Given the description of an element on the screen output the (x, y) to click on. 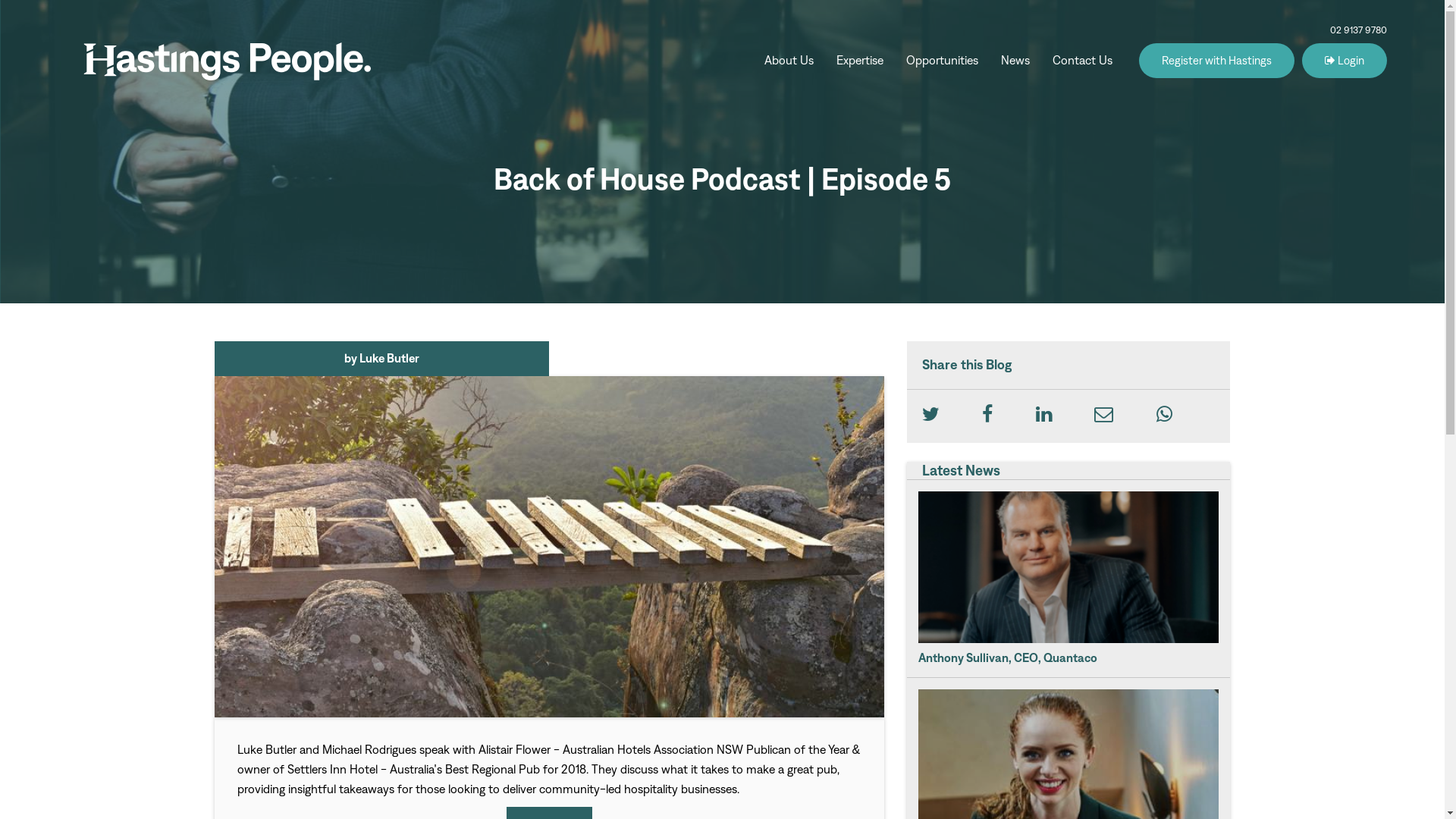
Register with Hastings Element type: text (1216, 60)
Opportunities Element type: text (941, 60)
02 9137 9780 Element type: text (1358, 29)
Contact Us Element type: text (1082, 60)
About Us Element type: text (789, 60)
News Element type: text (1015, 60)
Anthony Sullivan, CEO, Quantaco Element type: text (1068, 578)
Hastings People Element type: text (227, 60)
Expertise Element type: text (859, 60)
Login Element type: text (1344, 60)
